Given the description of an element on the screen output the (x, y) to click on. 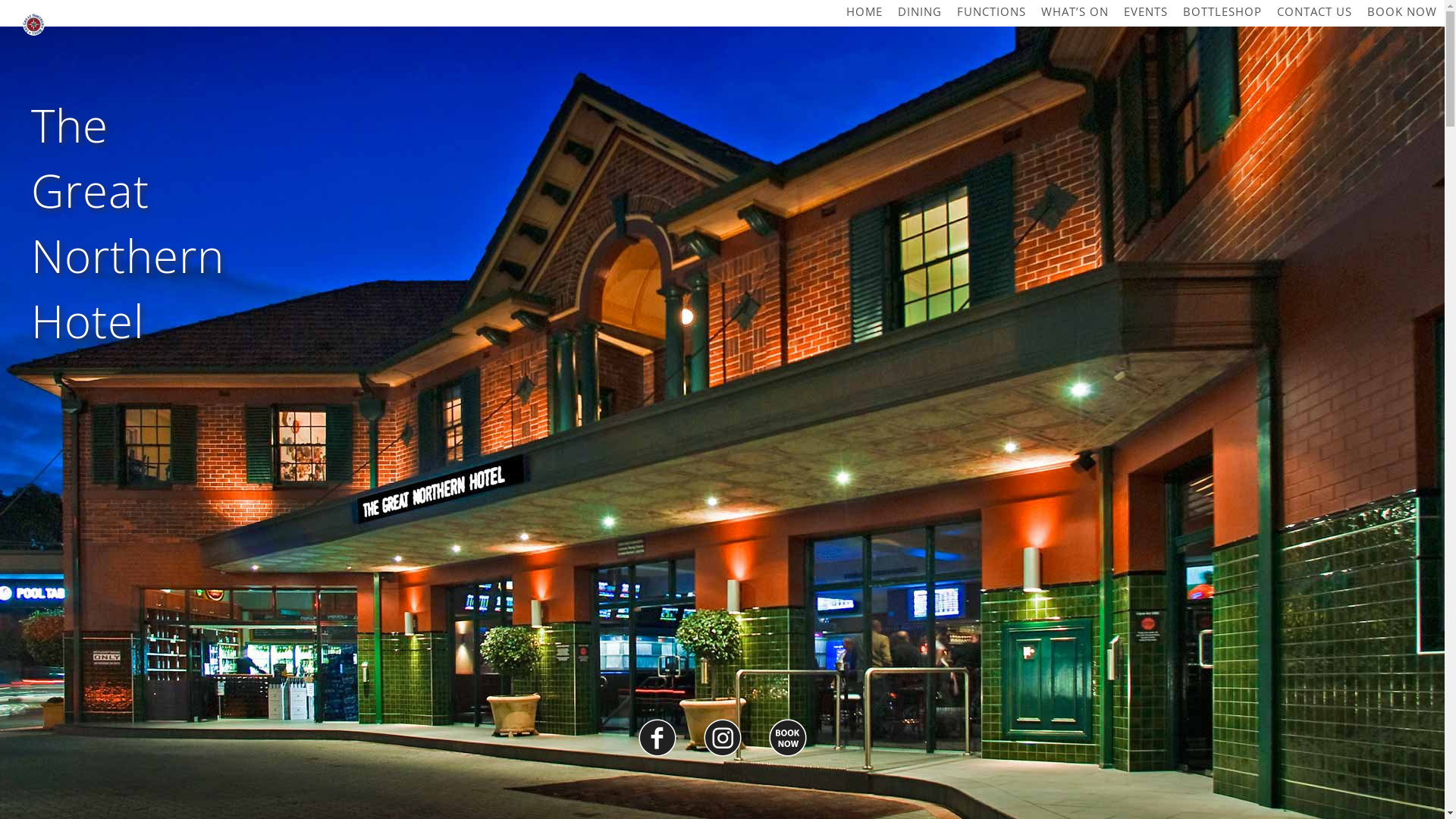
BOTTLESHOP Element type: text (1222, 11)
CONTACT US Element type: text (1314, 11)
FUNCTIONS Element type: text (991, 11)
DINING Element type: text (919, 11)
BOOK NOW Element type: text (1401, 11)
HOME Element type: text (864, 11)
EVENTS Element type: text (1145, 11)
